Given the description of an element on the screen output the (x, y) to click on. 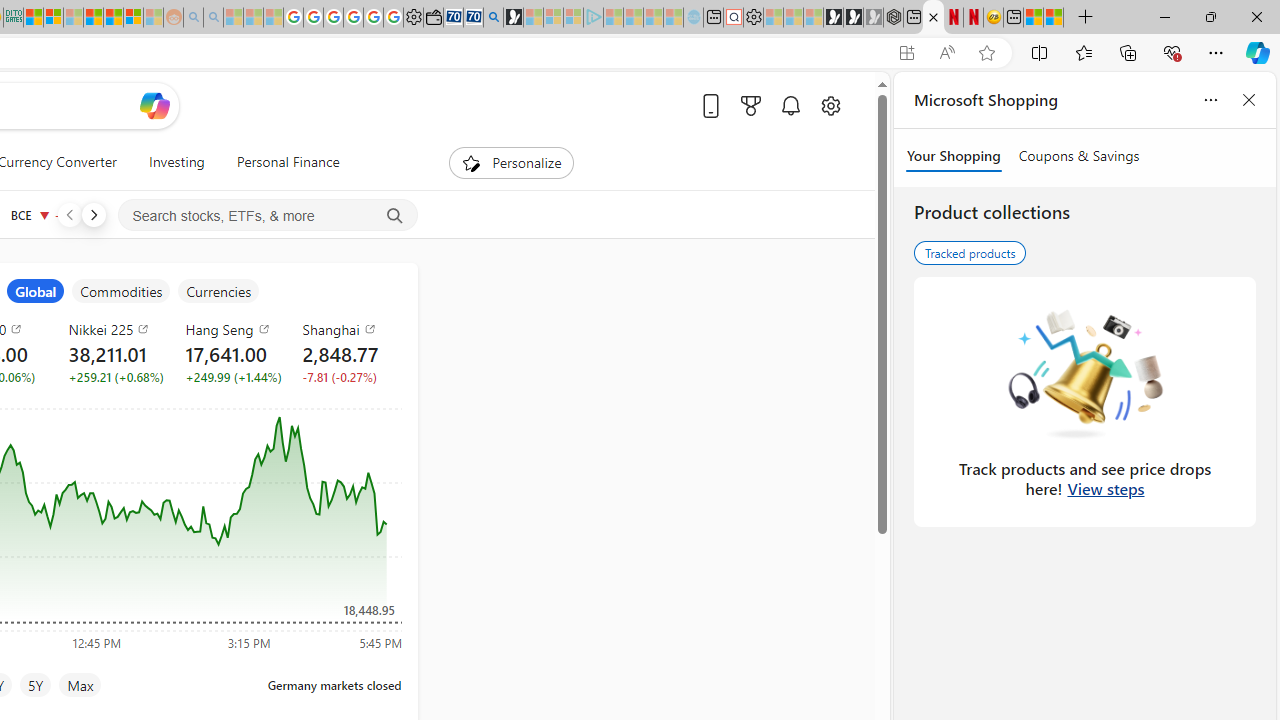
Personalize (511, 162)
Nikkei 225 N225 increase 38,211.01 +259.21 +0.68% (111, 351)
Shanghai Composite 000001 decrease 2,848.77 -7.81 -0.27% (345, 351)
